Given the description of an element on the screen output the (x, y) to click on. 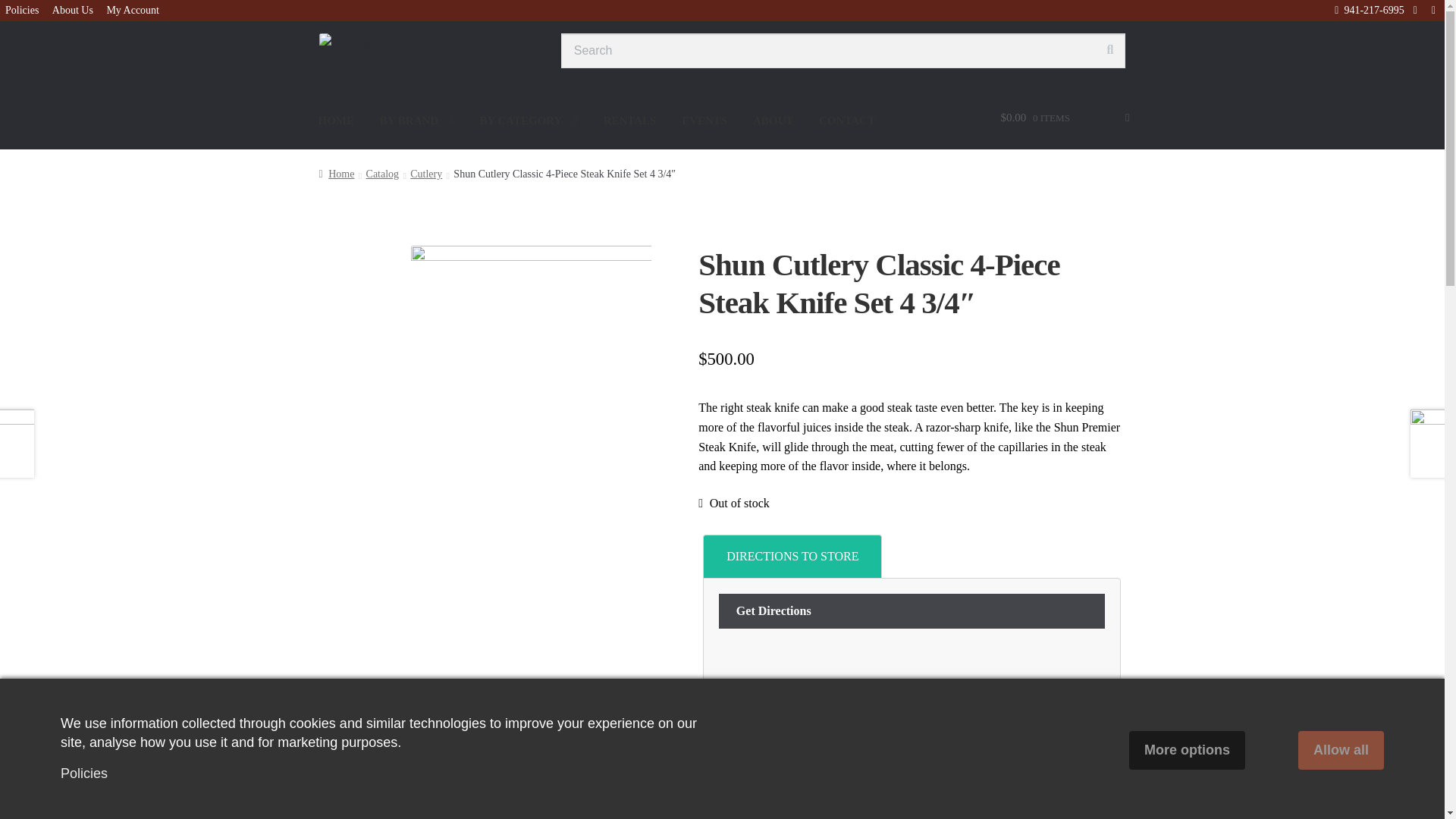
Policies (21, 10)
HOME (336, 120)
BY BRAND (416, 120)
View your shopping cart (1064, 123)
My Account (132, 10)
Search for: (843, 50)
941-217-6995 (1366, 9)
About Us (72, 10)
